Given the description of an element on the screen output the (x, y) to click on. 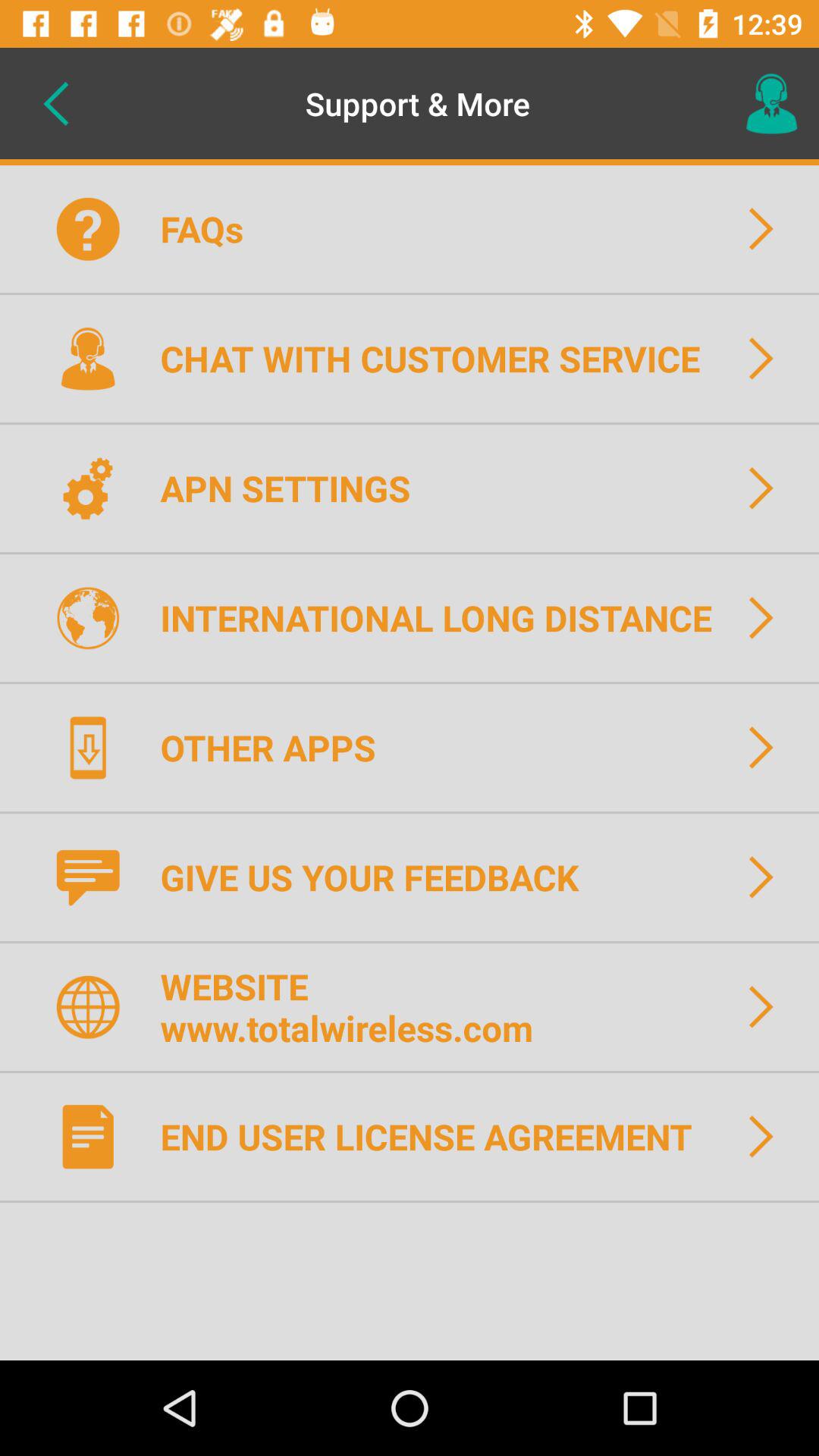
launch the other apps (277, 747)
